Given the description of an element on the screen output the (x, y) to click on. 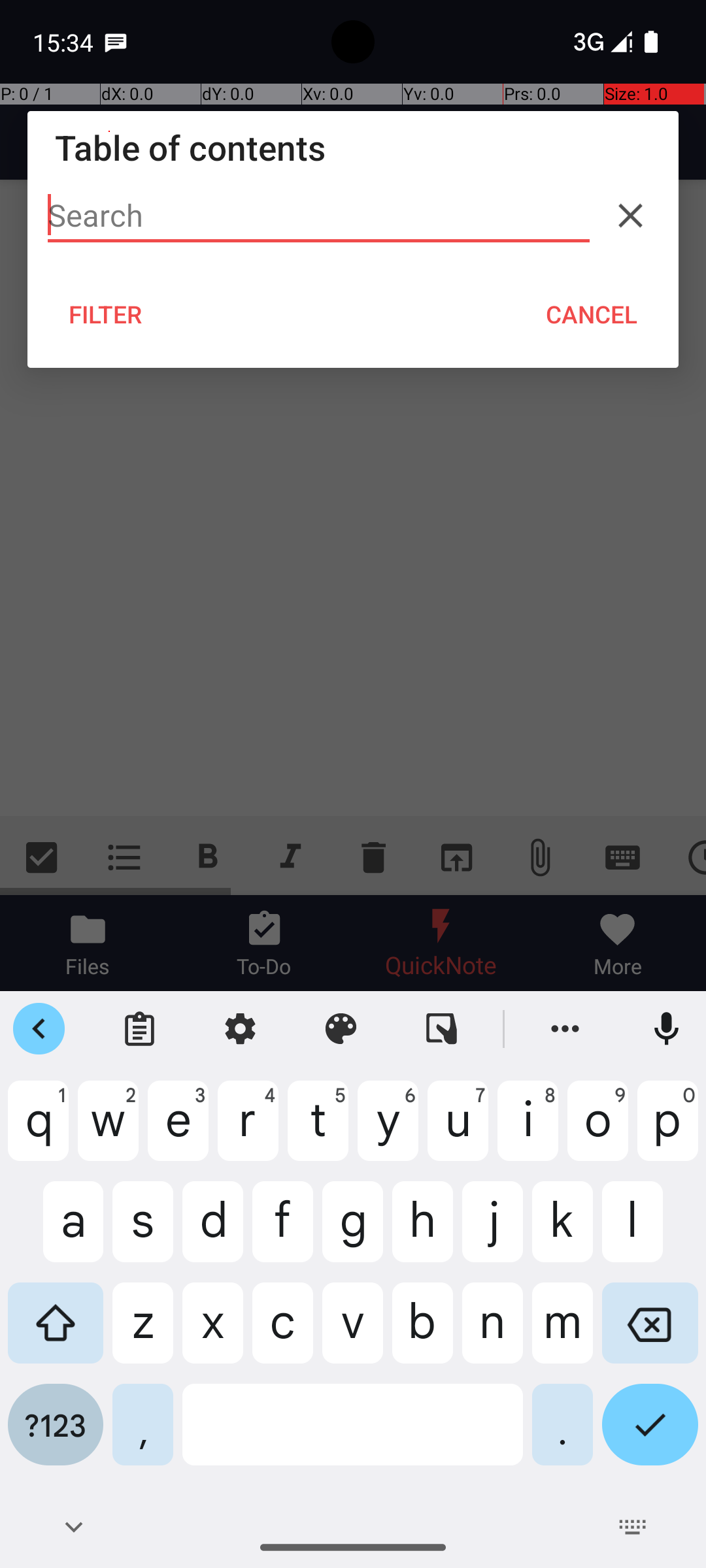
SMS Messenger notification: Martin Chen Element type: android.widget.ImageView (115, 41)
